Given the description of an element on the screen output the (x, y) to click on. 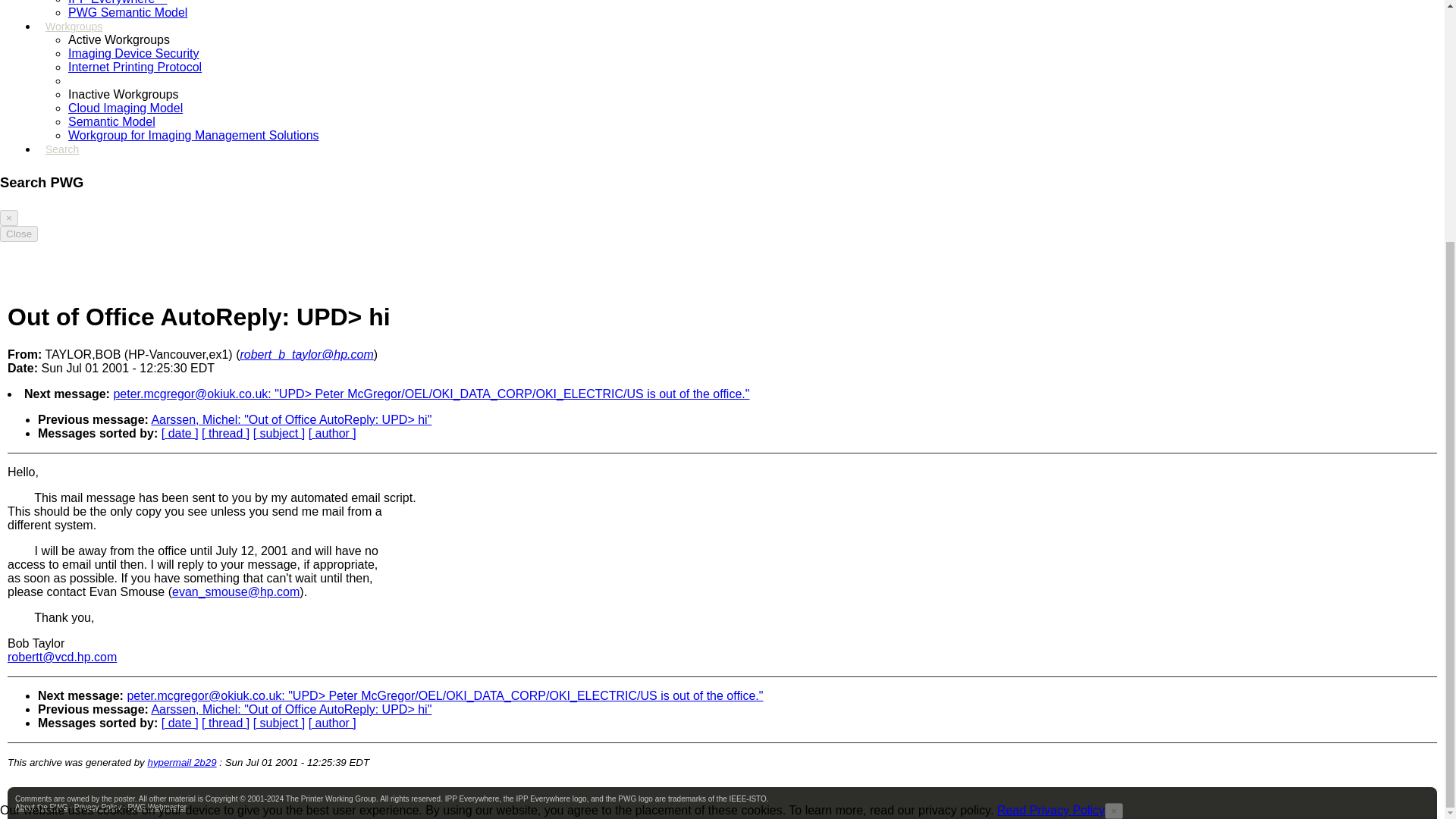
Search (61, 155)
PWG Semantic Model (127, 11)
Workgroups (73, 32)
Workgroup for Imaging Management Solutions (193, 134)
Internet Printing Protocol (135, 66)
Semantic Model (111, 121)
Imaging Device Security (133, 52)
Cloud Imaging Model (125, 107)
Close (18, 233)
